Given the description of an element on the screen output the (x, y) to click on. 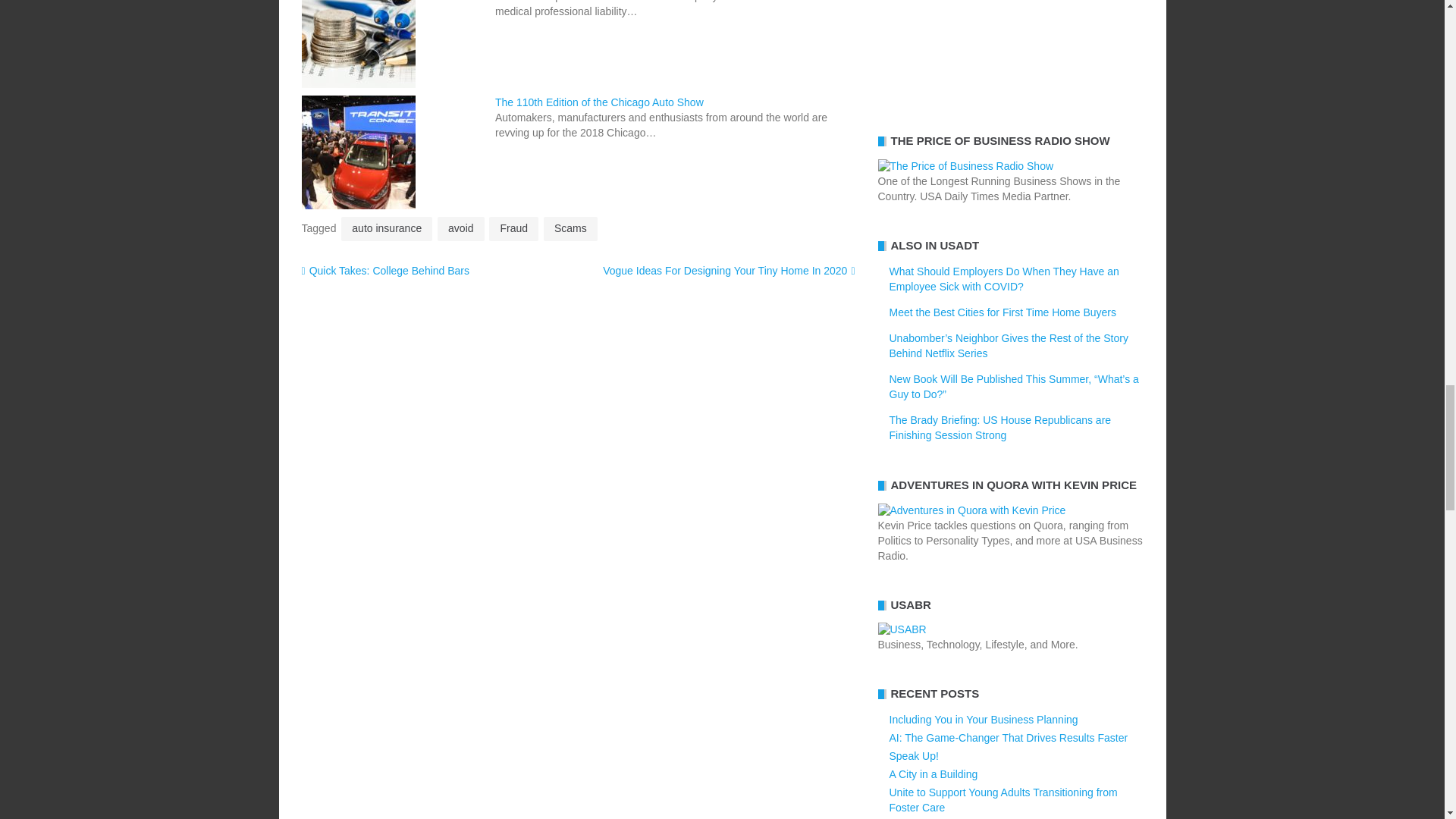
USABR (901, 629)
How the Final Four Was a Huge Boost for Houston (1009, 50)
Adventures in Quora with Kevin Price (971, 509)
The Price of Business (965, 164)
